Given the description of an element on the screen output the (x, y) to click on. 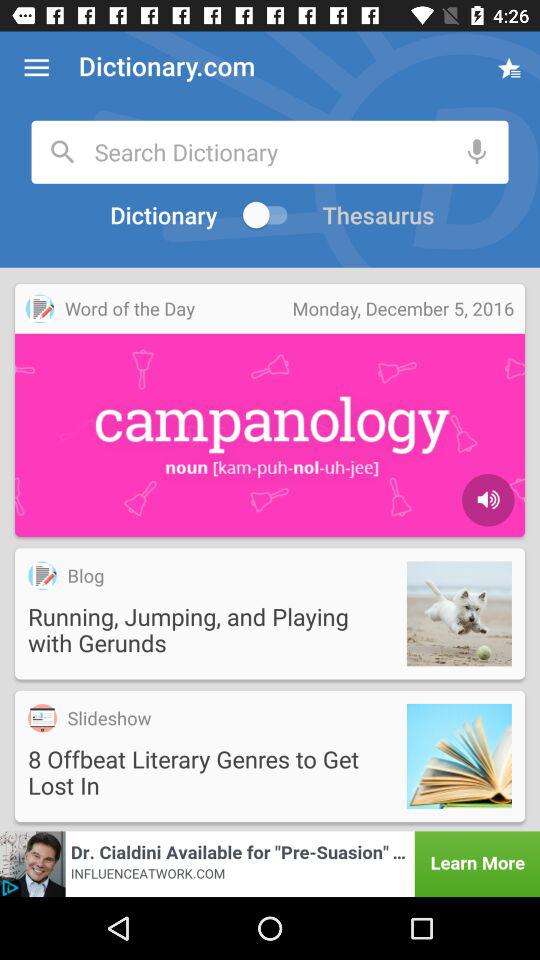
move to the text box which is under the text with gerunds (269, 756)
select the video which is under the text dictionary (269, 410)
select the icon left to the text search dictionary (63, 152)
select the volume icon which is at the right side on the page (488, 500)
